Given the description of an element on the screen output the (x, y) to click on. 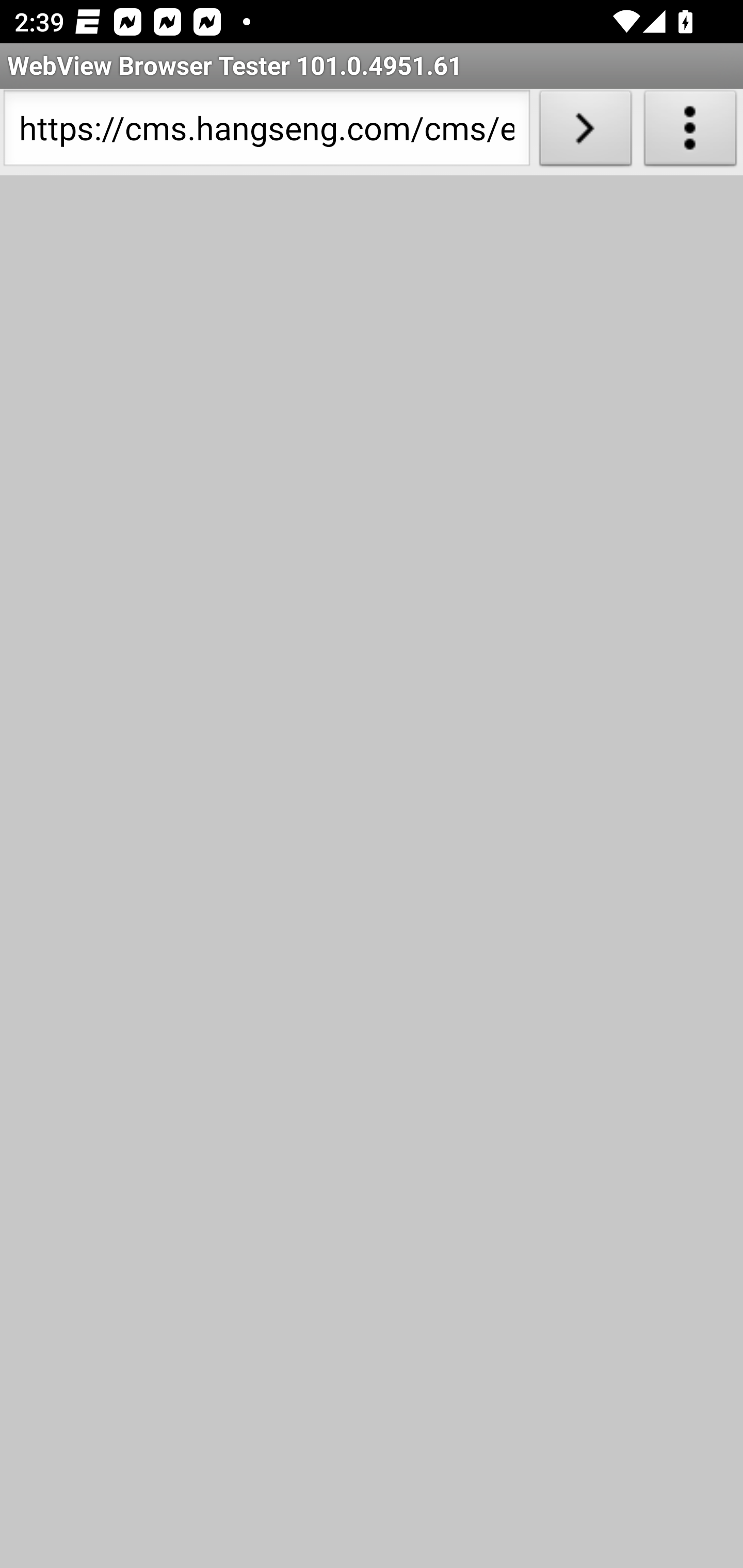
Load URL (585, 132)
About WebView (690, 132)
